Given the description of an element on the screen output the (x, y) to click on. 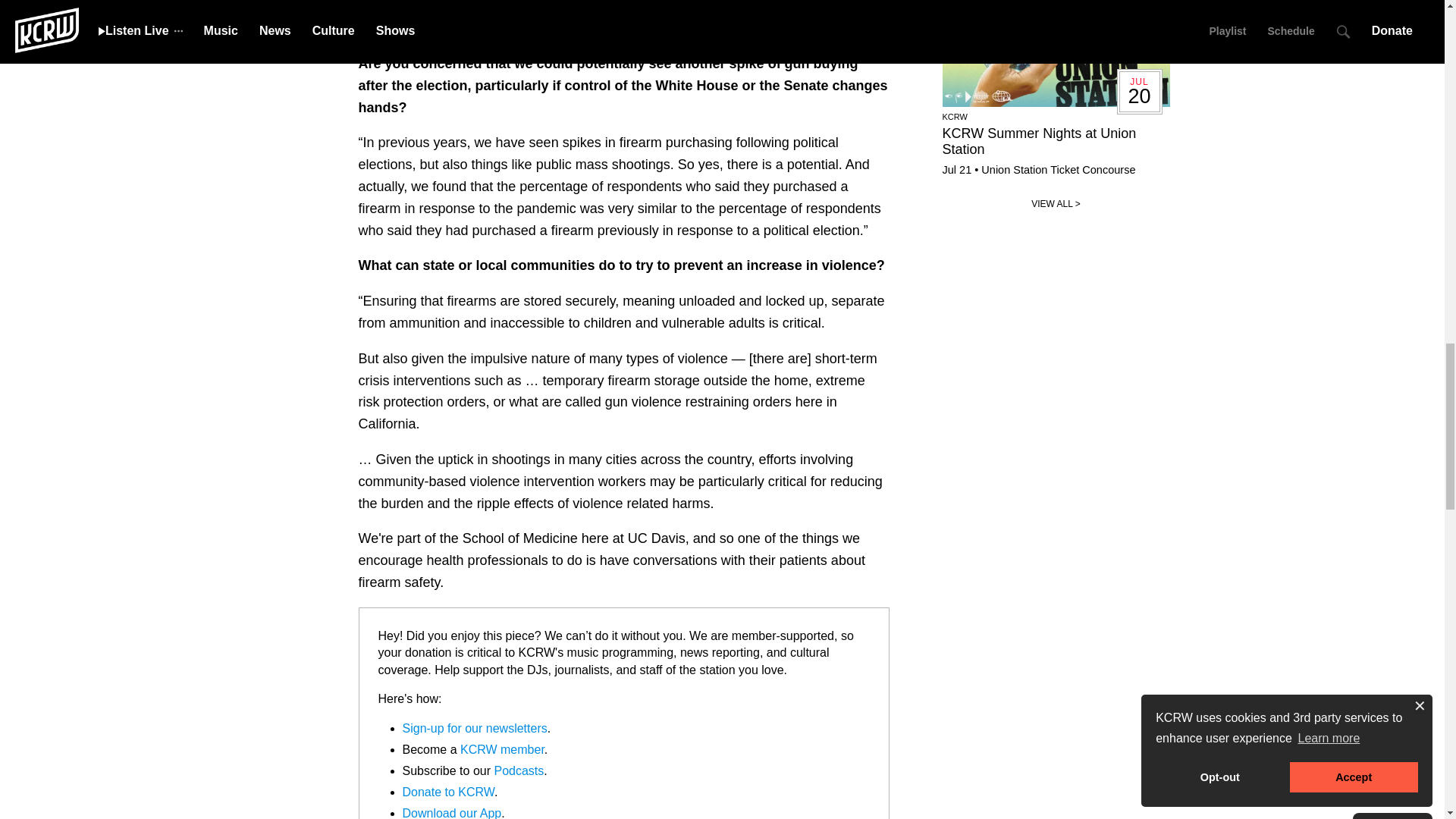
KCRW member (502, 748)
Download our App (450, 812)
Podcasts (518, 770)
Donate to KCRW (448, 791)
Sign-up for our newsletters (474, 727)
